Given the description of an element on the screen output the (x, y) to click on. 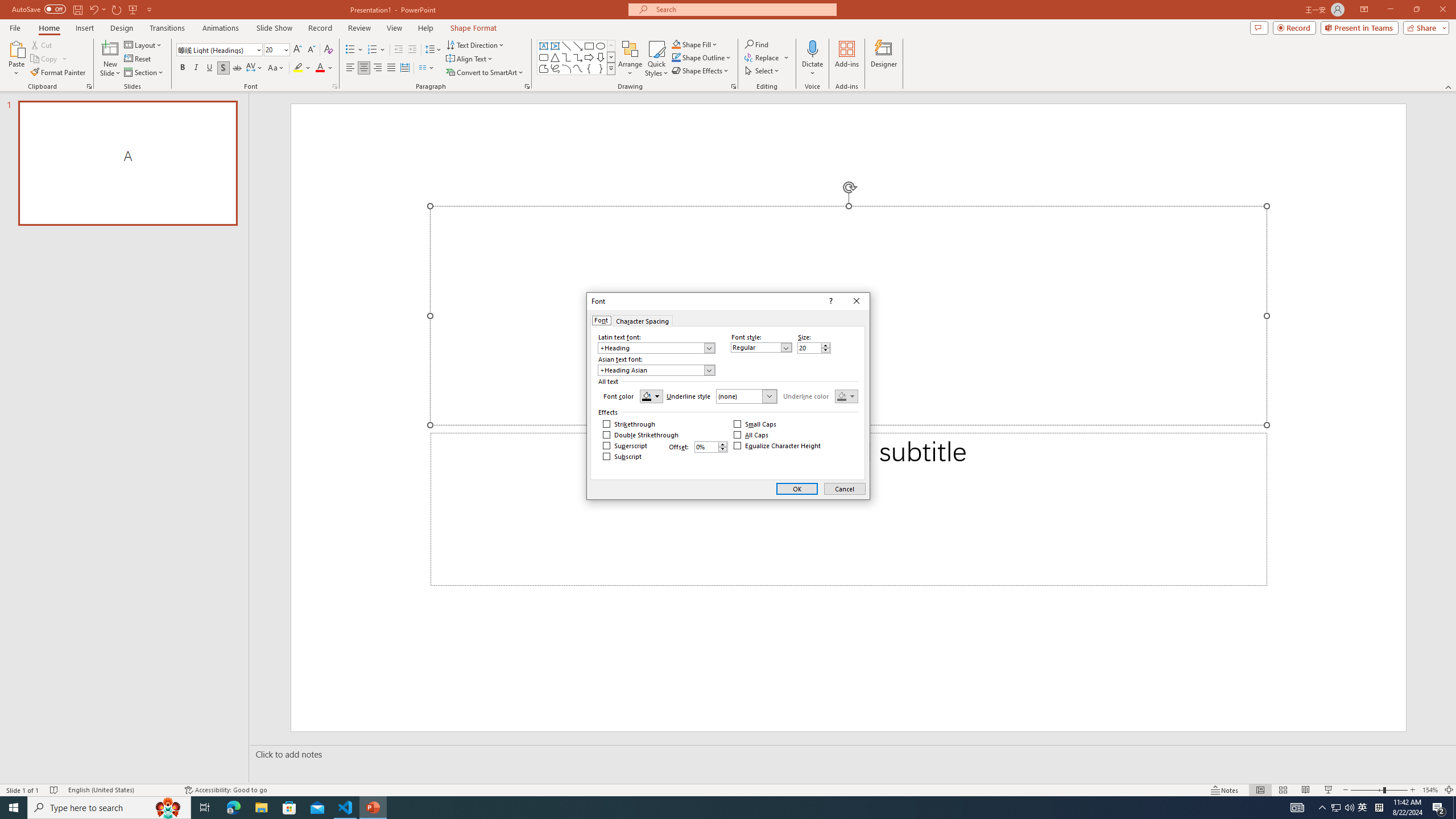
Asian text font (656, 369)
